Given the description of an element on the screen output the (x, y) to click on. 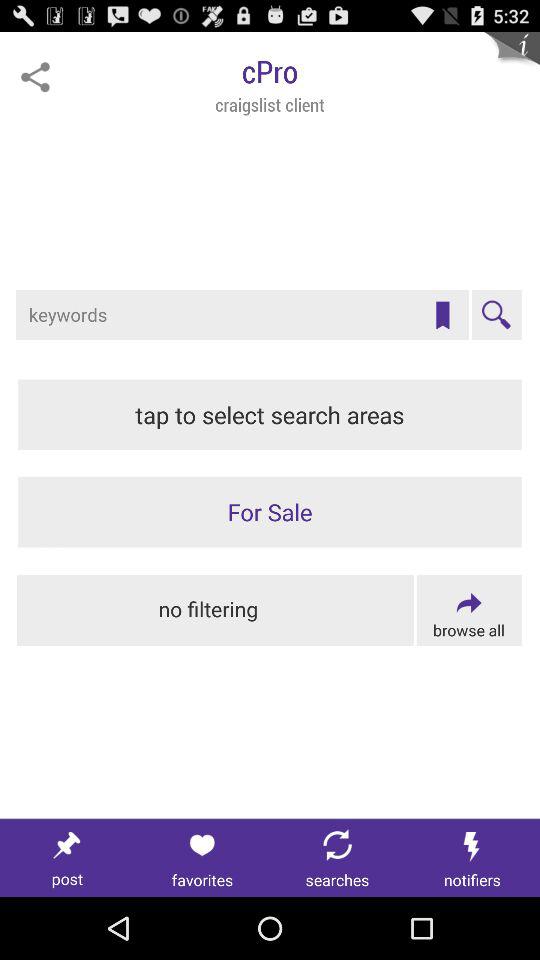
input text (242, 315)
